Given the description of an element on the screen output the (x, y) to click on. 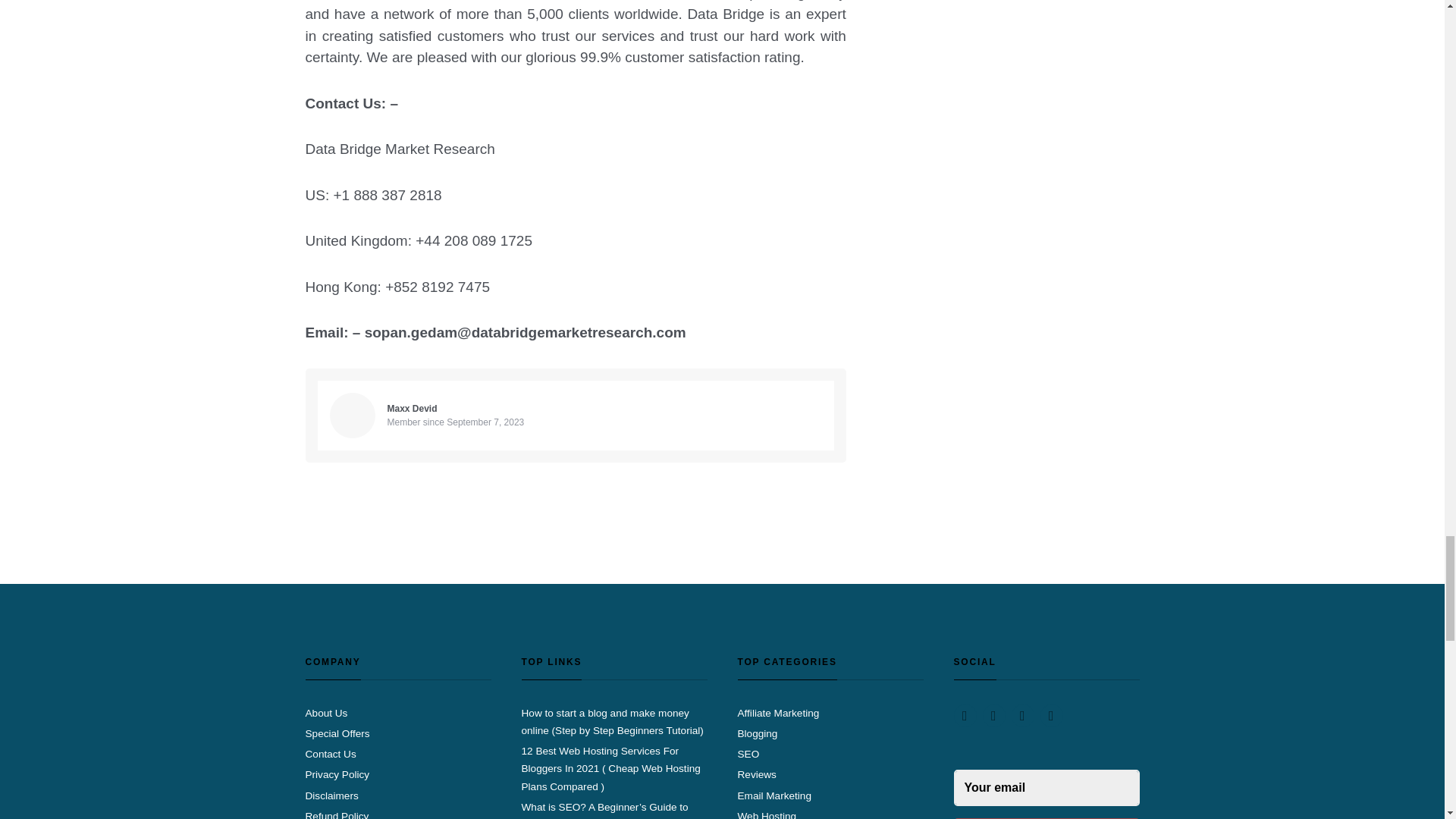
Maxx Devid (411, 408)
